Given the description of an element on the screen output the (x, y) to click on. 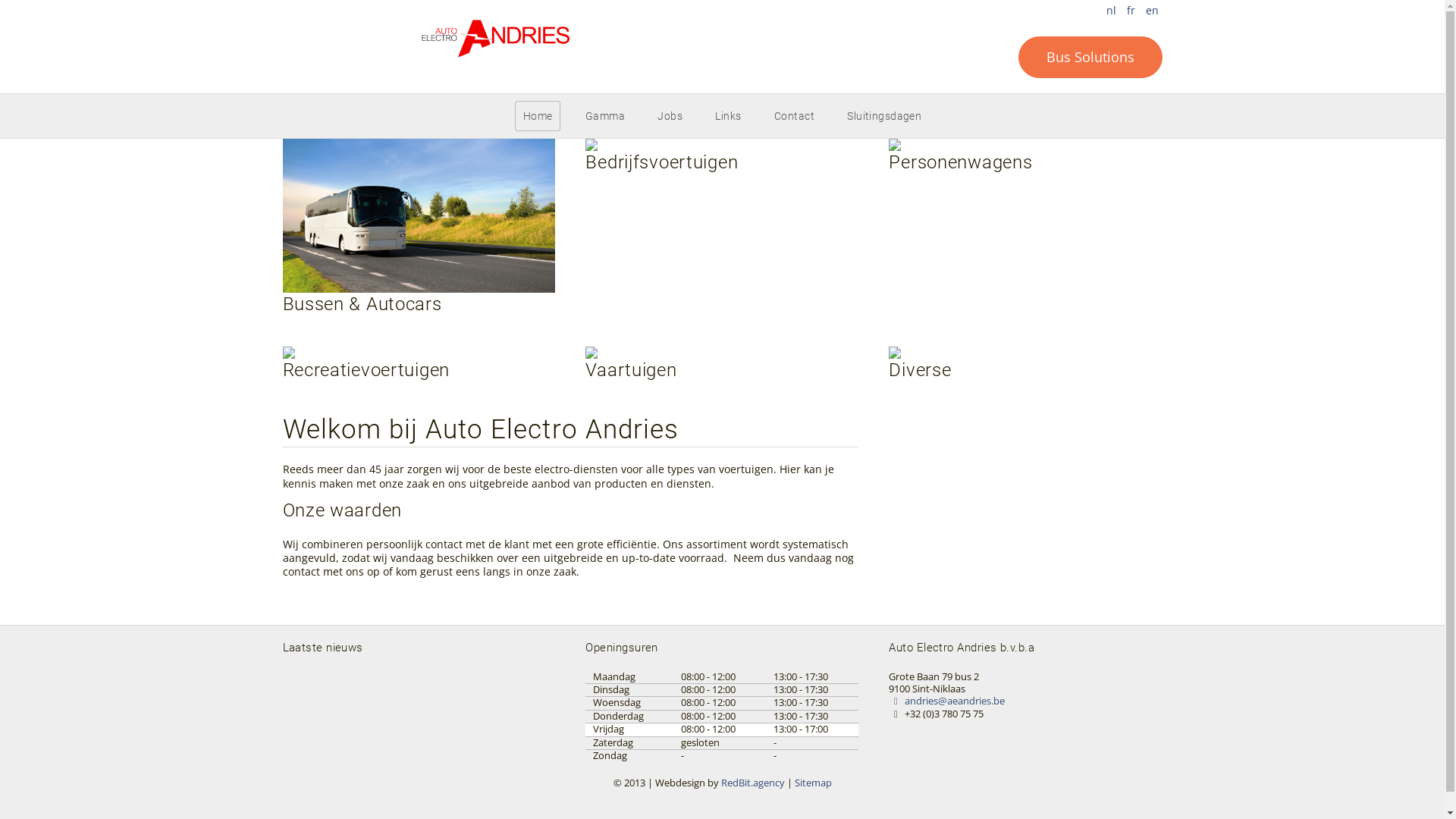
Bus Solutions Element type: text (1089, 57)
Links Element type: text (727, 115)
Gamma Element type: text (605, 115)
andries@aeandries.be Element type: text (946, 700)
Jobs Element type: text (669, 115)
Sitemap Element type: text (812, 782)
Contact Element type: text (793, 115)
Sluitingsdagen Element type: text (883, 115)
Home Element type: text (537, 115)
RedBit.agency Element type: text (752, 782)
